Given the description of an element on the screen output the (x, y) to click on. 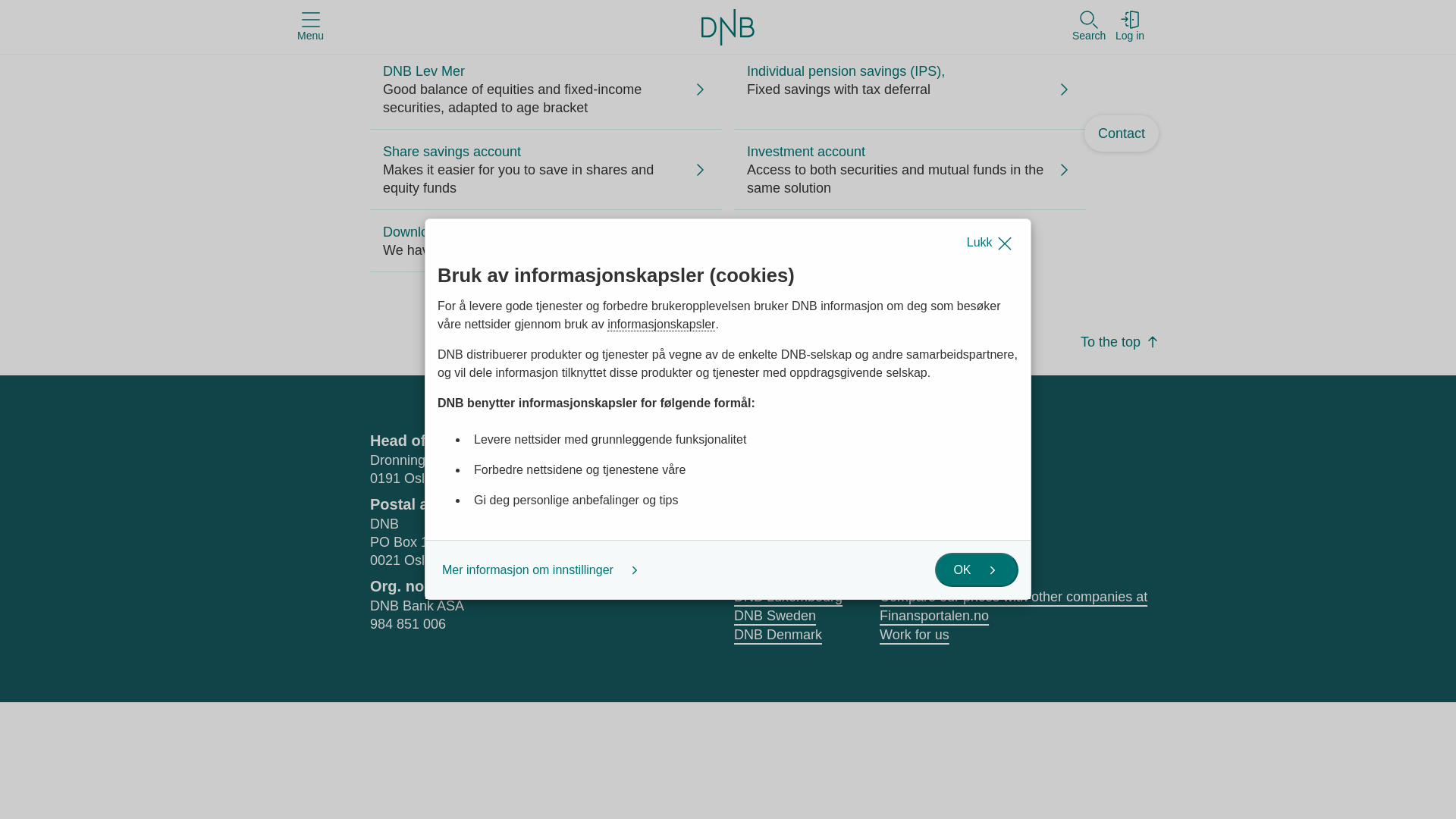
YouTube (933, 469)
Opens a new window (891, 469)
Opens a new window (933, 469)
Facebook (891, 469)
